Given the description of an element on the screen output the (x, y) to click on. 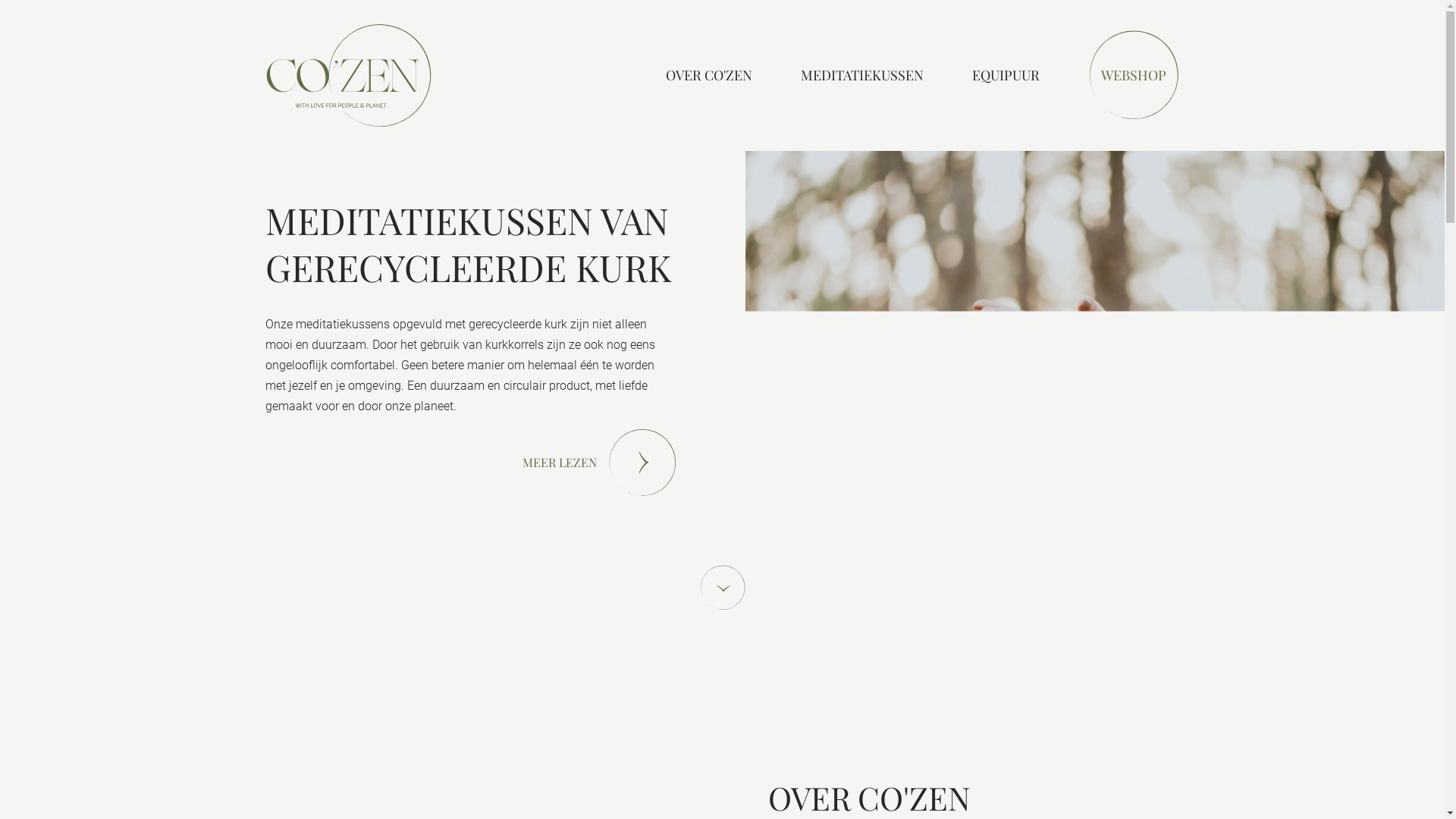
MEDITATIEKUSSEN Element type: text (861, 74)
OVER CO'ZEN Element type: text (708, 74)
EQUIPUUR Element type: text (1005, 74)
MEER LEZEN Element type: text (599, 462)
